Given the description of an element on the screen output the (x, y) to click on. 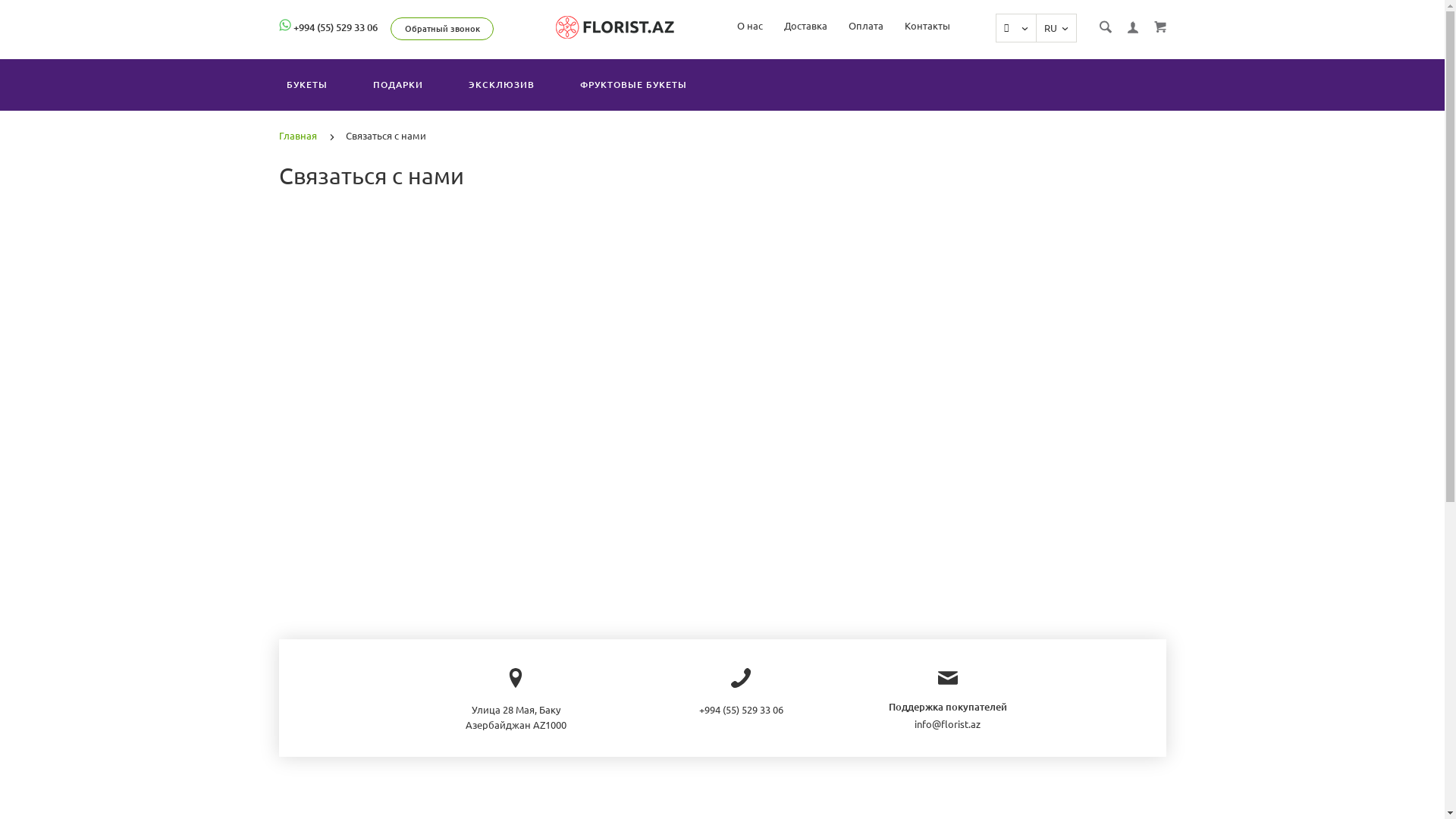
+994 (55) 529 33 06 Element type: text (741, 709)
RU Element type: text (1055, 27)
info@florist.az Element type: text (947, 724)
+994 (55) 529 33 06 Element type: text (334, 26)
Florist.AZ Element type: hover (614, 26)
